Given the description of an element on the screen output the (x, y) to click on. 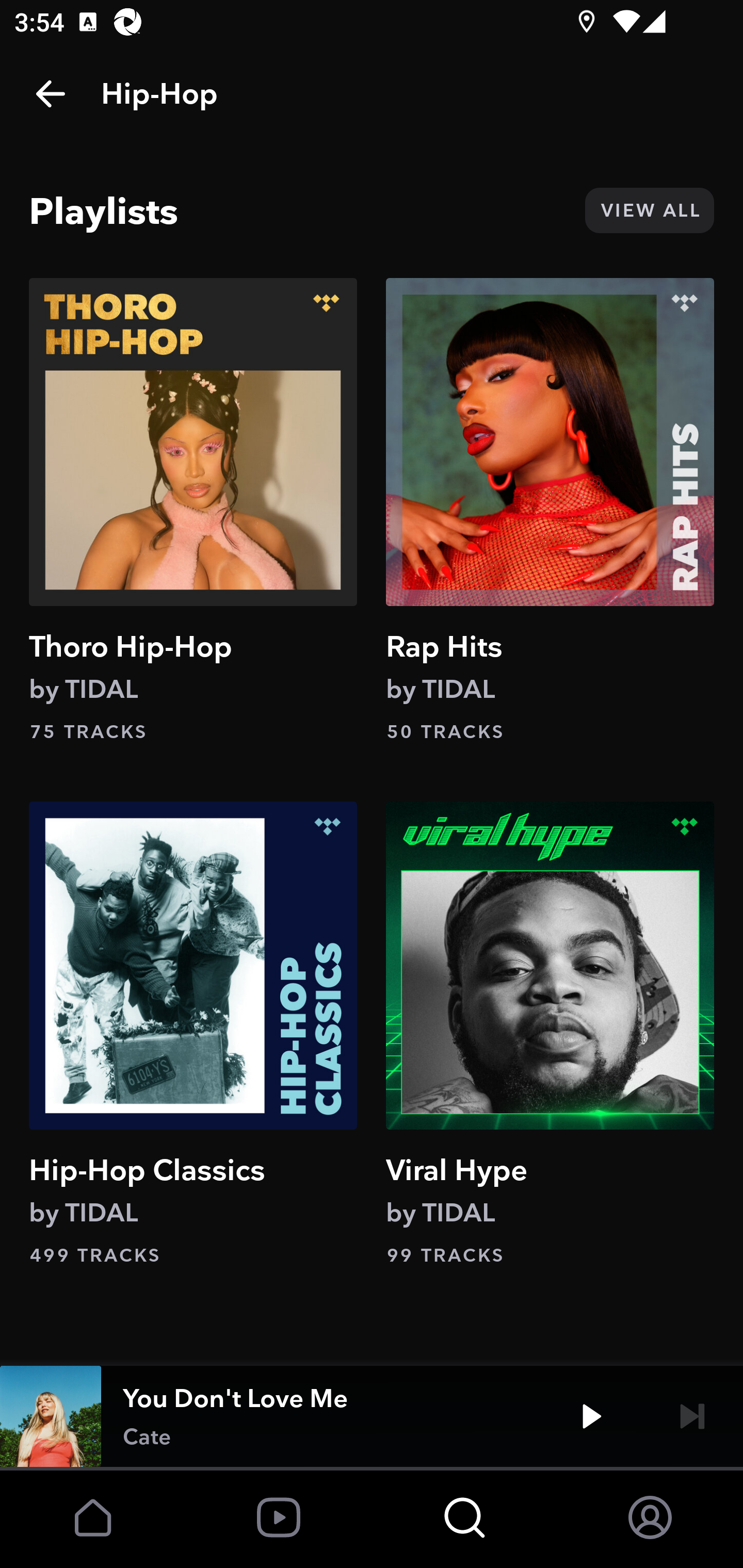
VIEW ALL (649, 210)
Thoro Hip-Hop by TIDAL 75 TRACKS (192, 510)
Rap Hits by TIDAL 50 TRACKS (549, 510)
Hip-Hop Classics by TIDAL 499 TRACKS (192, 1033)
Viral Hype by TIDAL 99 TRACKS (549, 1033)
You Don't Love Me Cate Play (371, 1416)
Play (590, 1416)
